Given the description of an element on the screen output the (x, y) to click on. 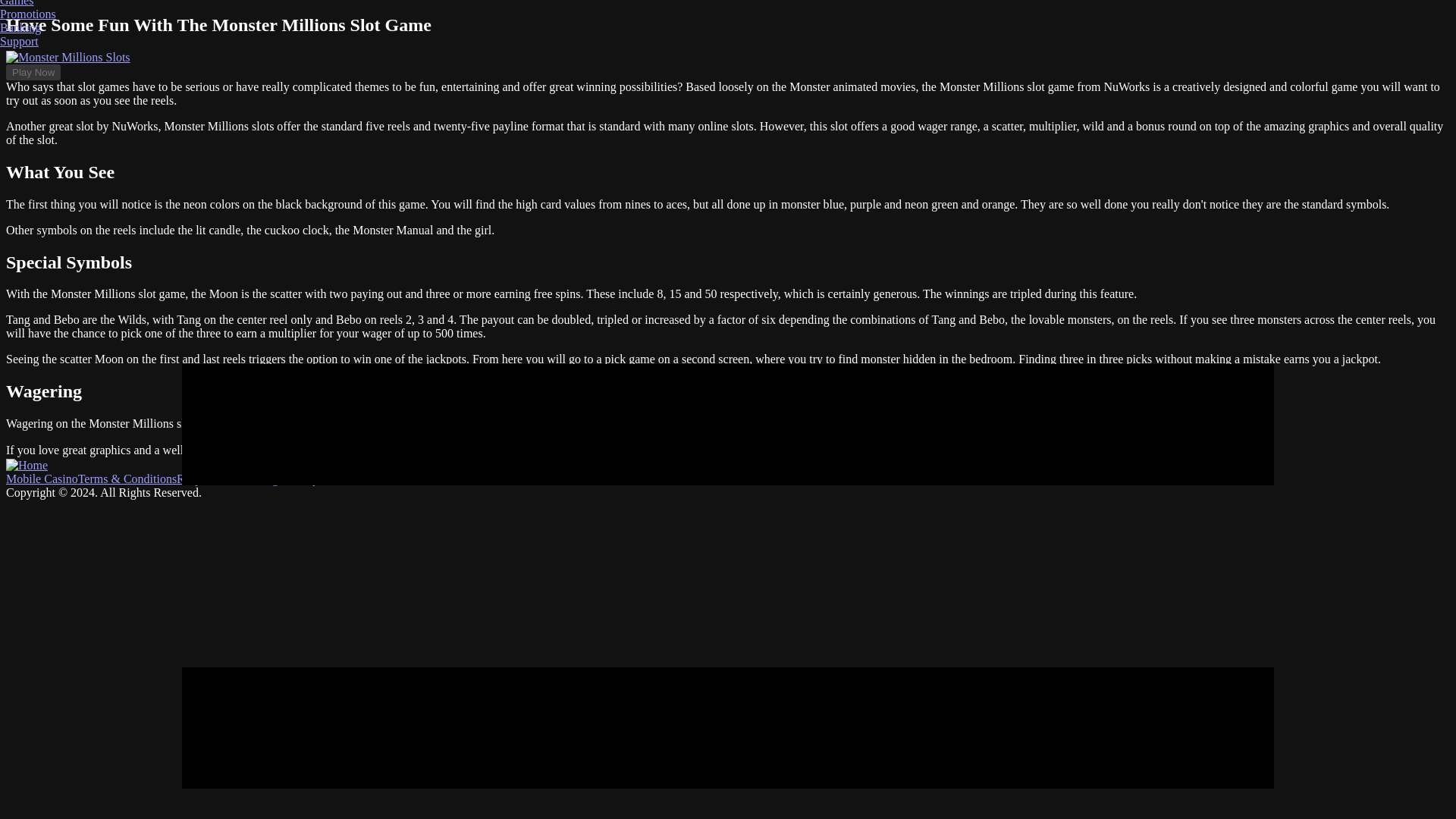
Play Now (33, 72)
play again and again (1067, 449)
Play Now (1148, 450)
